Given the description of an element on the screen output the (x, y) to click on. 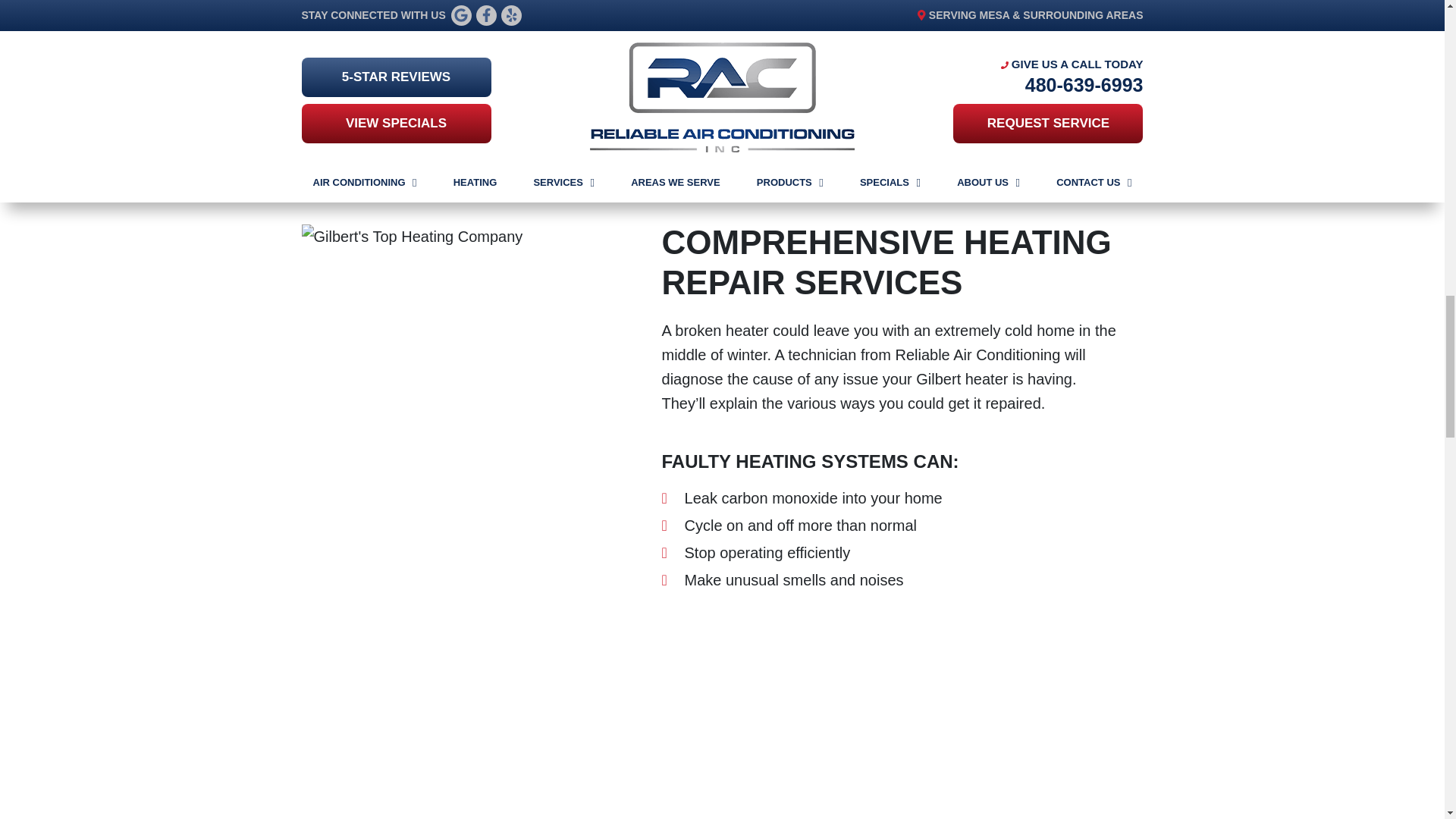
SEE MORE REVIEWS (721, 6)
